Given the description of an element on the screen output the (x, y) to click on. 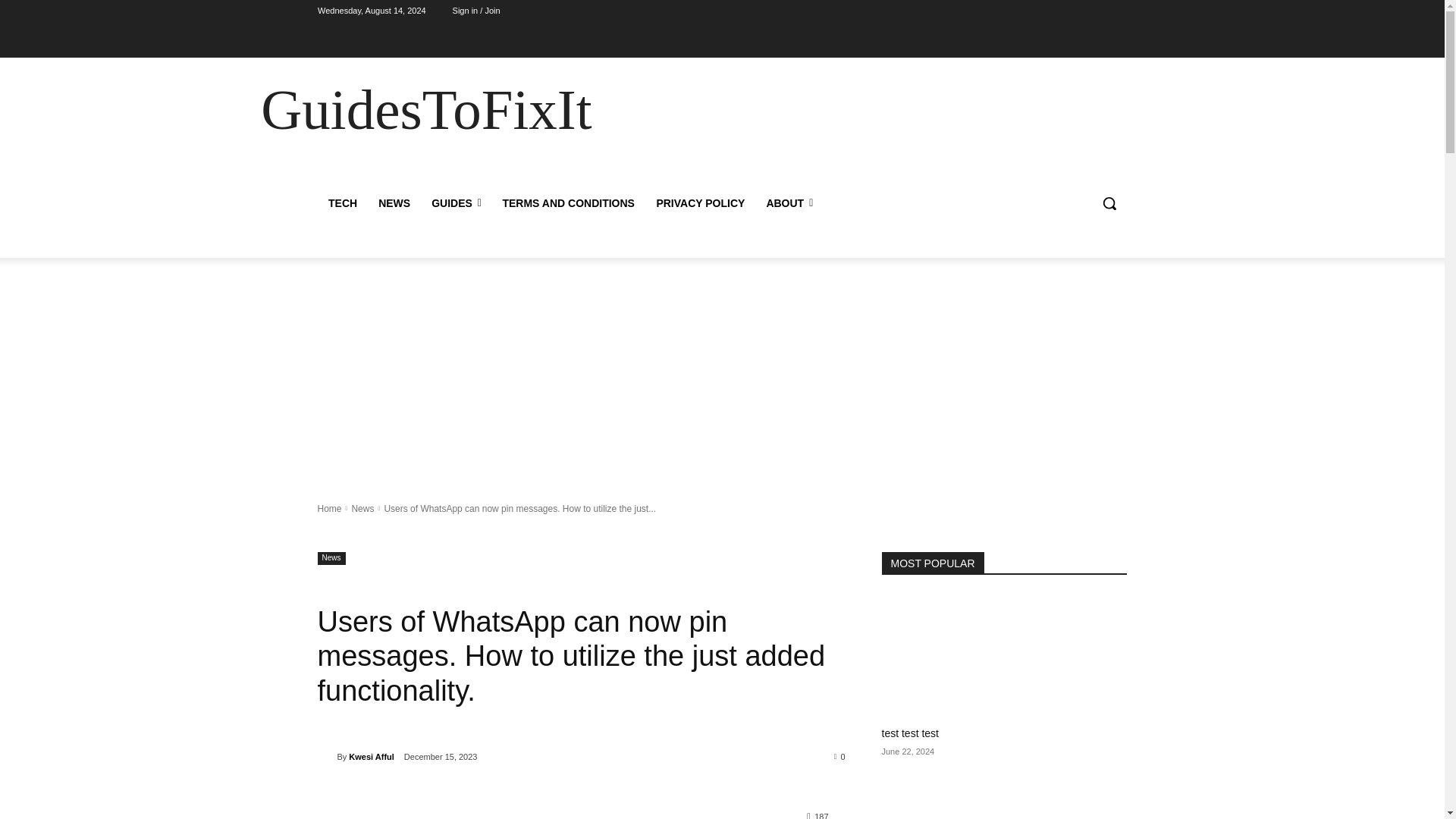
ABOUT (789, 203)
TECH (341, 203)
View all posts in News (362, 508)
GUIDES (456, 203)
News (362, 508)
Kwesi Afful (326, 756)
PRIVACY POLICY (700, 203)
GuidesToFixIt (425, 109)
NEWS (394, 203)
Home (328, 508)
